Given the description of an element on the screen output the (x, y) to click on. 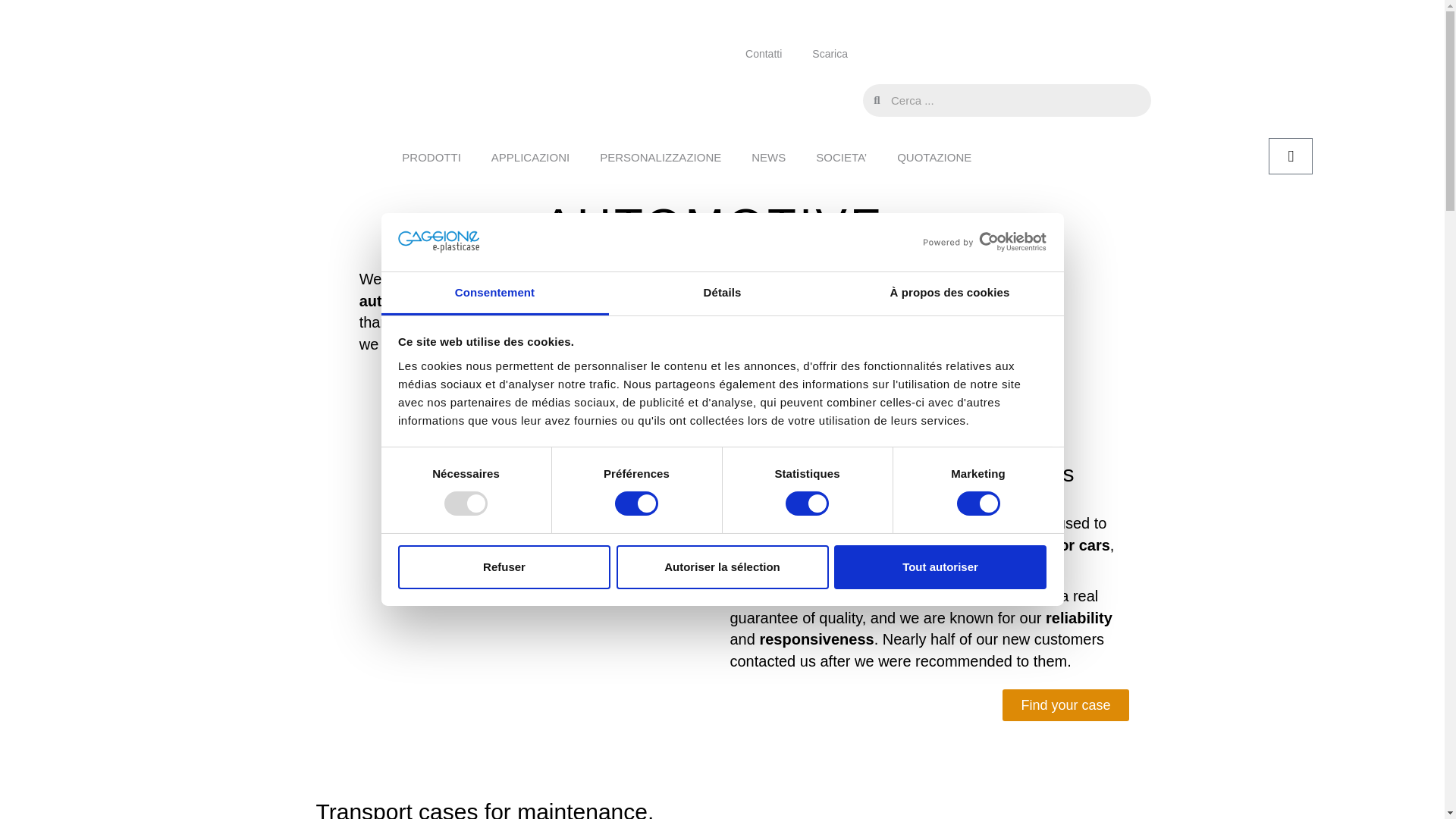
Consentement (494, 293)
